Given the description of an element on the screen output the (x, y) to click on. 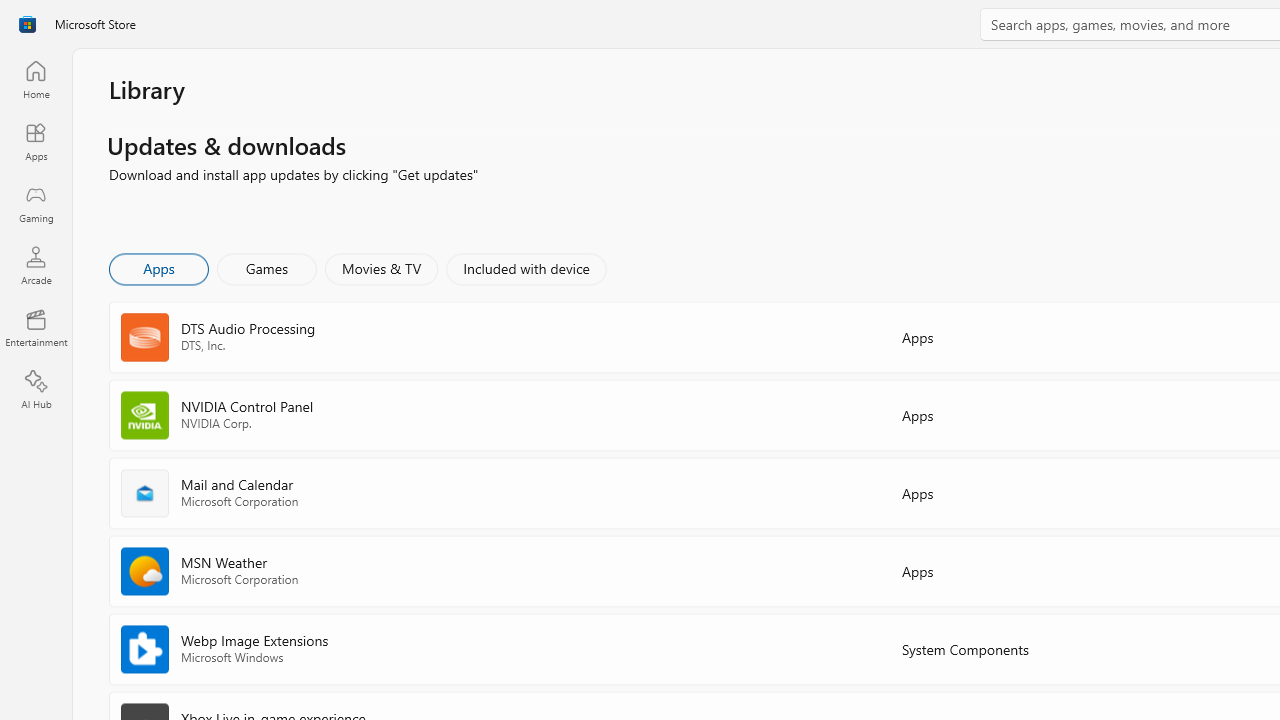
Games (267, 268)
Included with device (525, 268)
Movies & TV (381, 268)
